Given the description of an element on the screen output the (x, y) to click on. 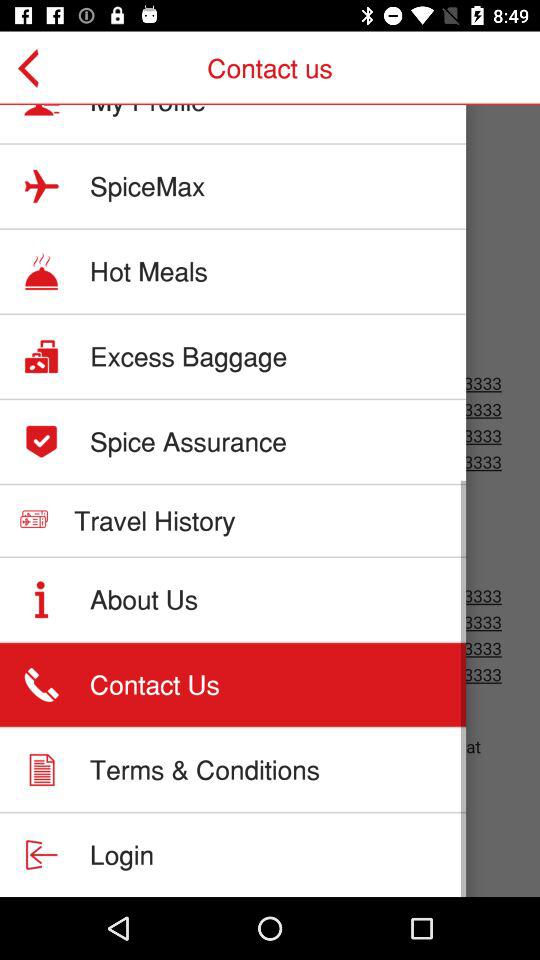
open item above the hot meals (147, 186)
